Given the description of an element on the screen output the (x, y) to click on. 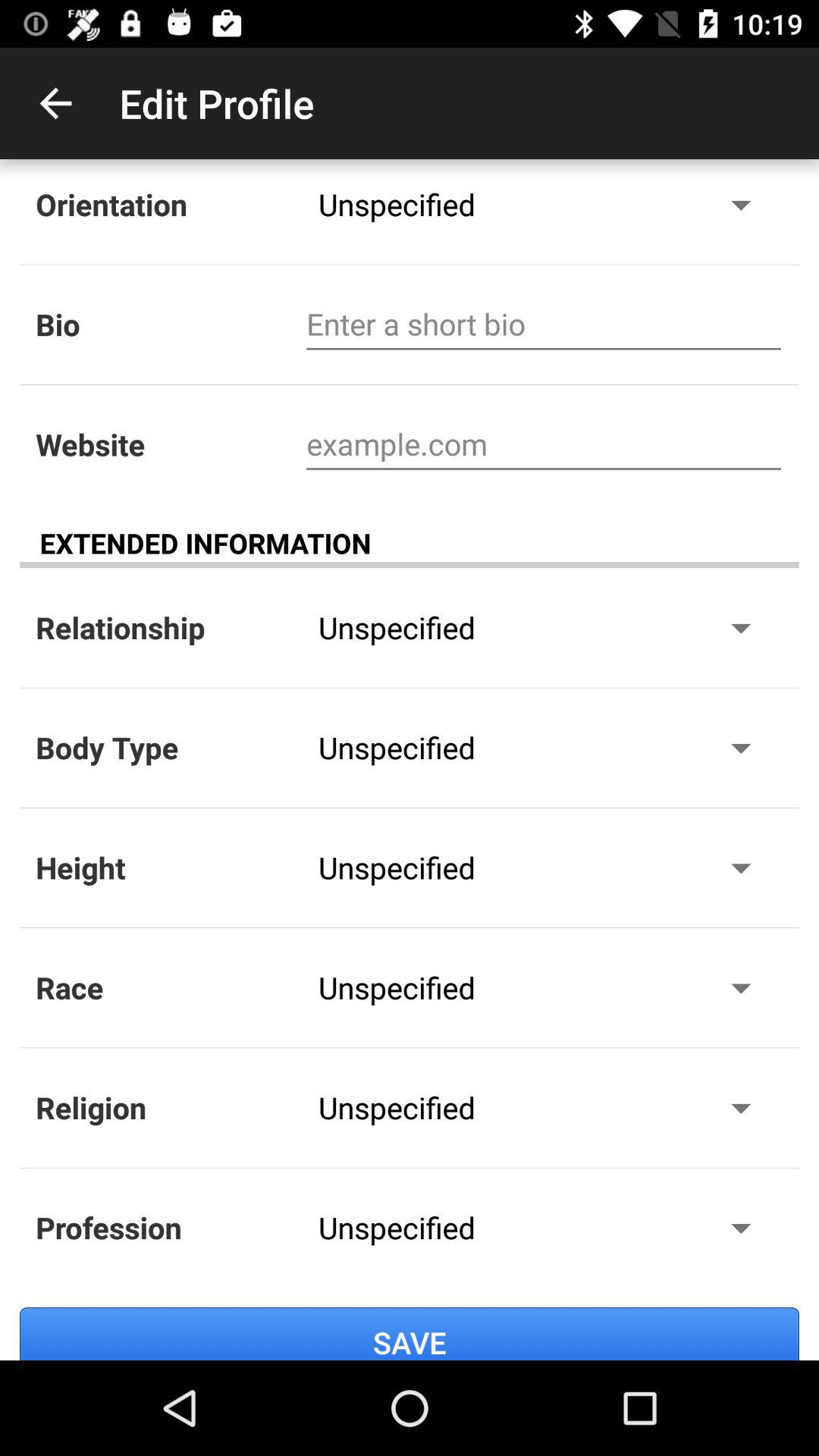
enter bio details (543, 324)
